Given the description of an element on the screen output the (x, y) to click on. 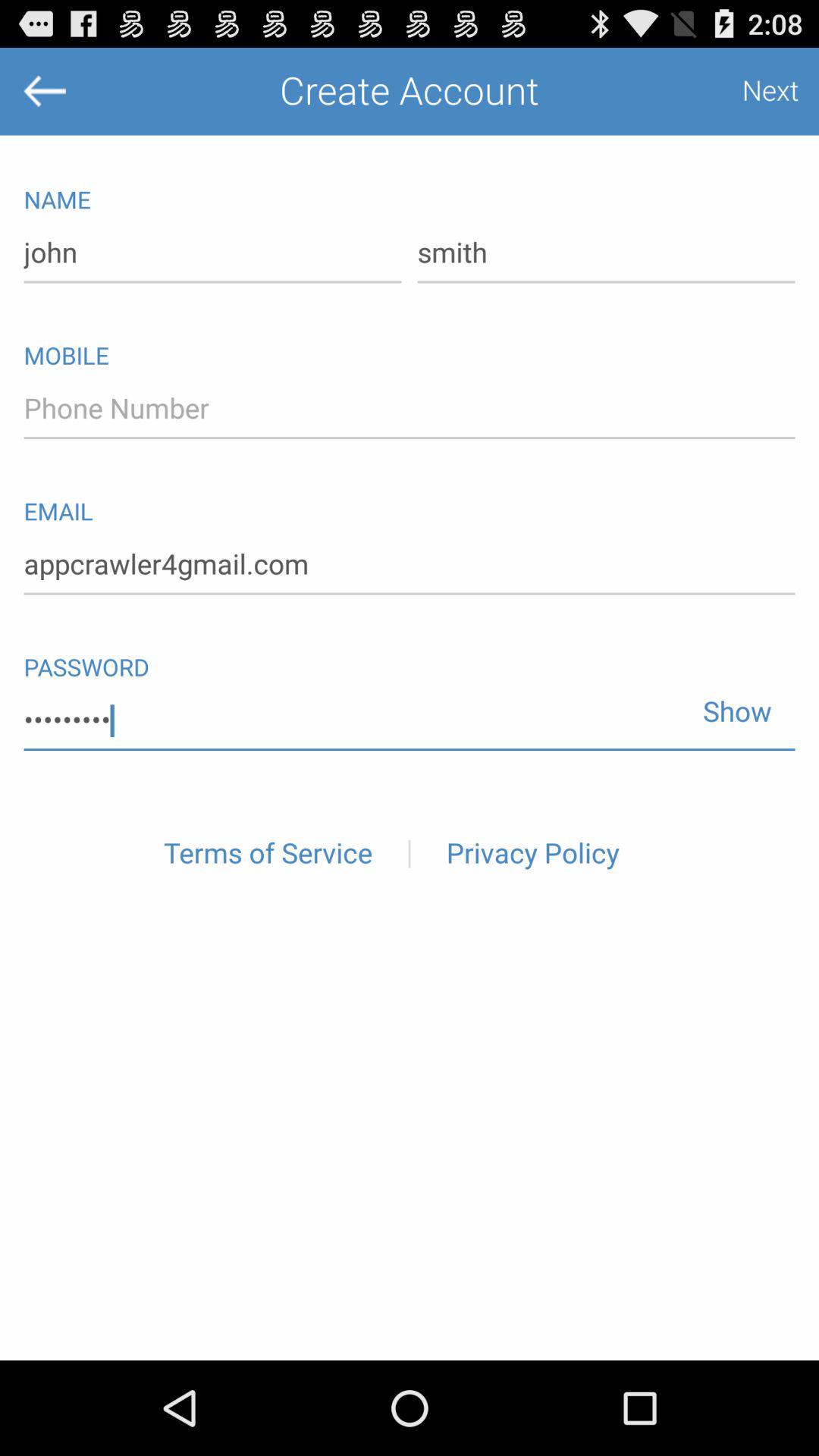
jump until the privacy policy item (532, 854)
